Given the description of an element on the screen output the (x, y) to click on. 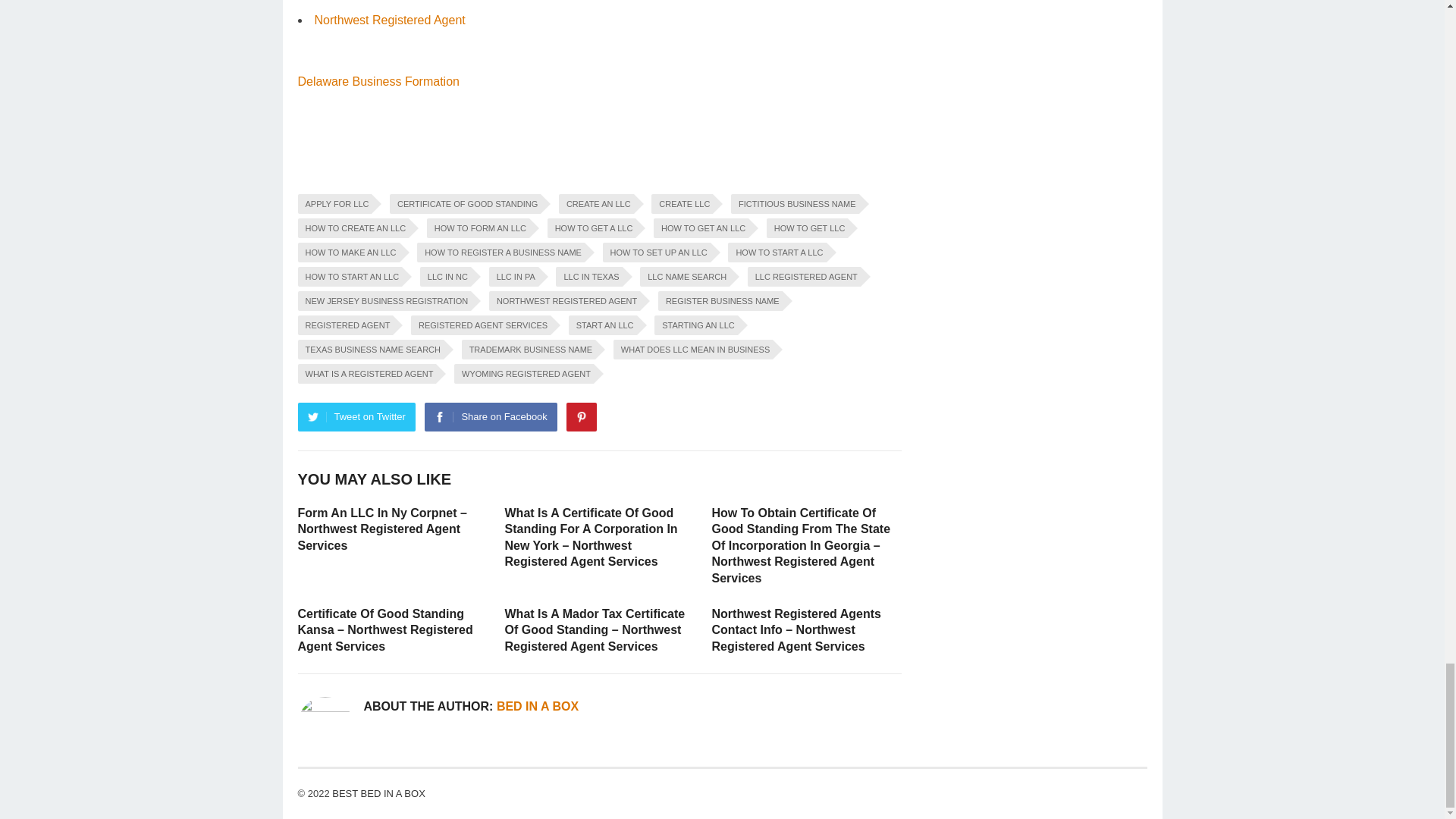
Northwest Registered Agent (389, 19)
FICTITIOUS BUSINESS NAME (794, 203)
CREATE LLC (681, 203)
APPLY FOR LLC (334, 203)
CERTIFICATE OF GOOD STANDING (465, 203)
Delaware Business Formation (377, 81)
CREATE AN LLC (596, 203)
